Given the description of an element on the screen output the (x, y) to click on. 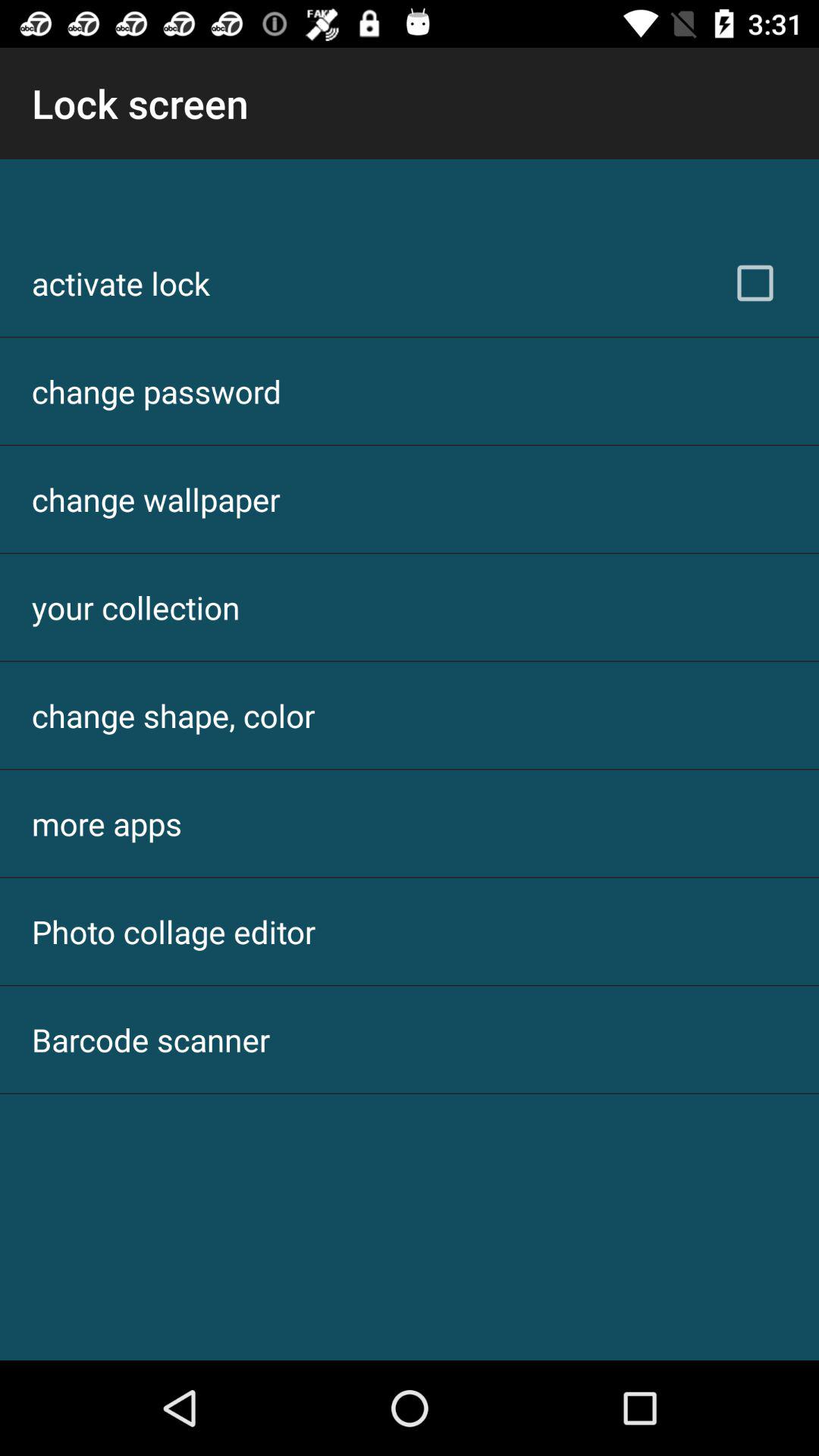
swipe until barcode scanner app (150, 1039)
